Given the description of an element on the screen output the (x, y) to click on. 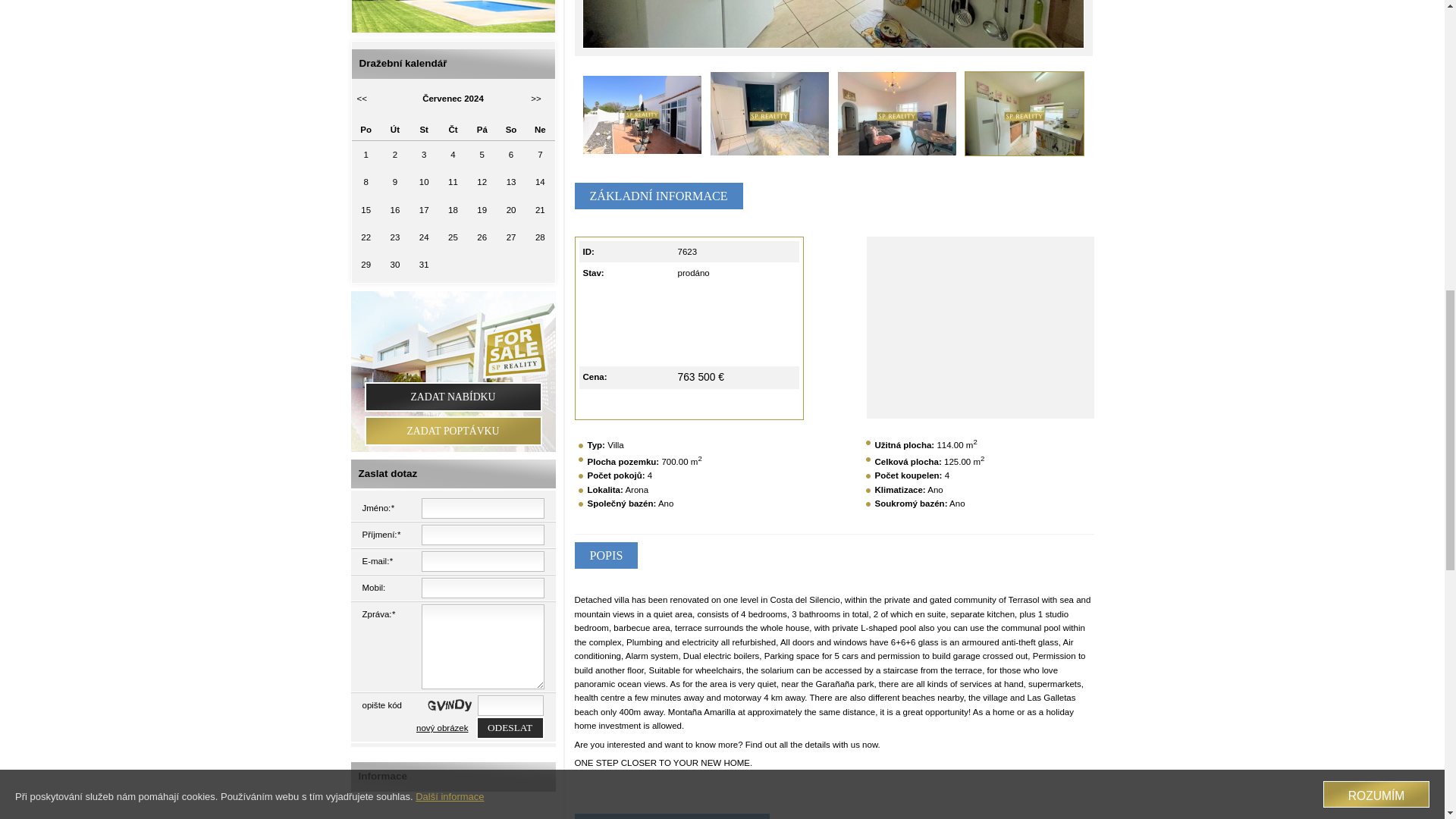
Prev (707, 22)
Next (957, 22)
ODESLAT (510, 727)
